Given the description of an element on the screen output the (x, y) to click on. 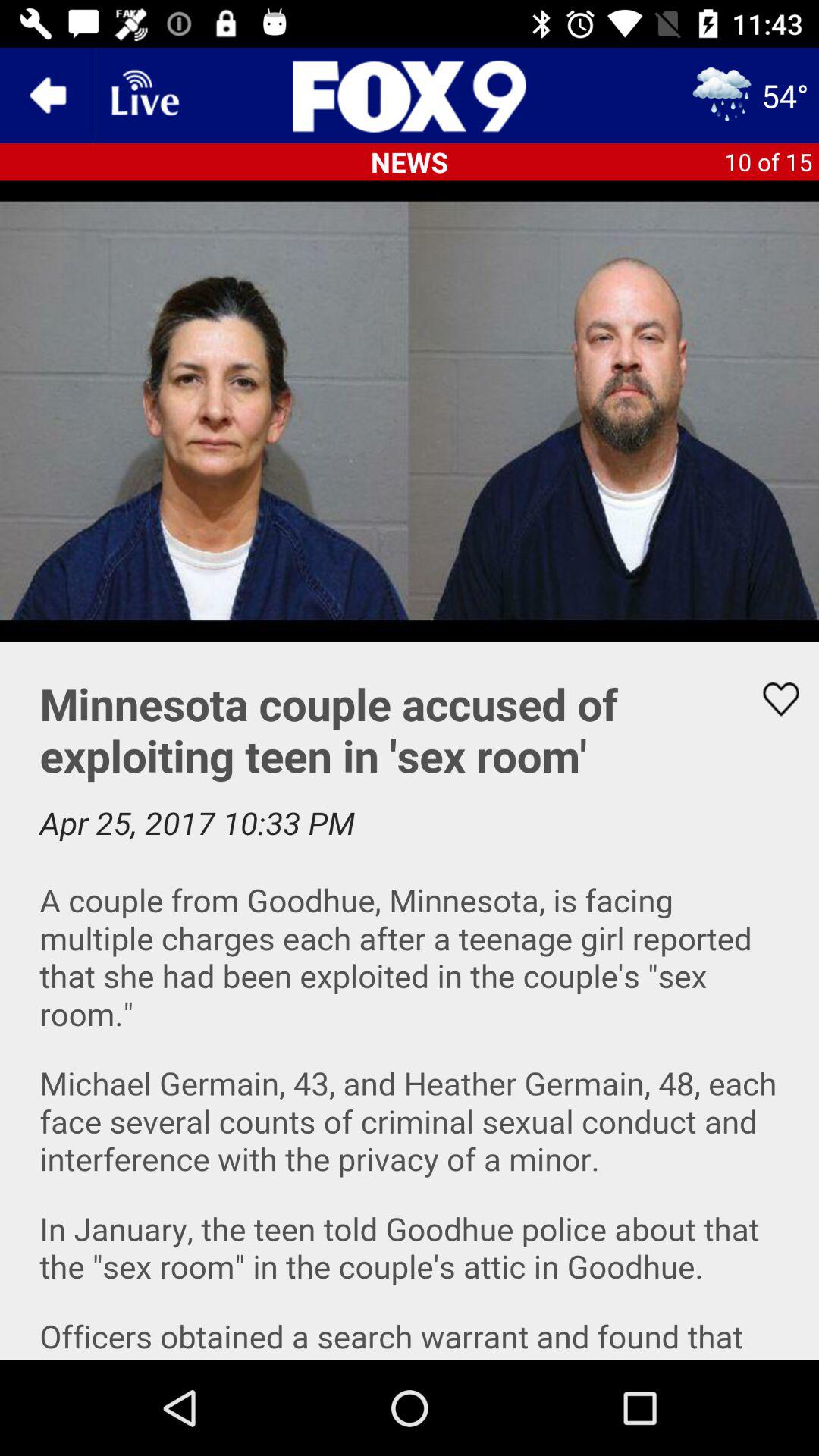
stream live audio (143, 95)
